Given the description of an element on the screen output the (x, y) to click on. 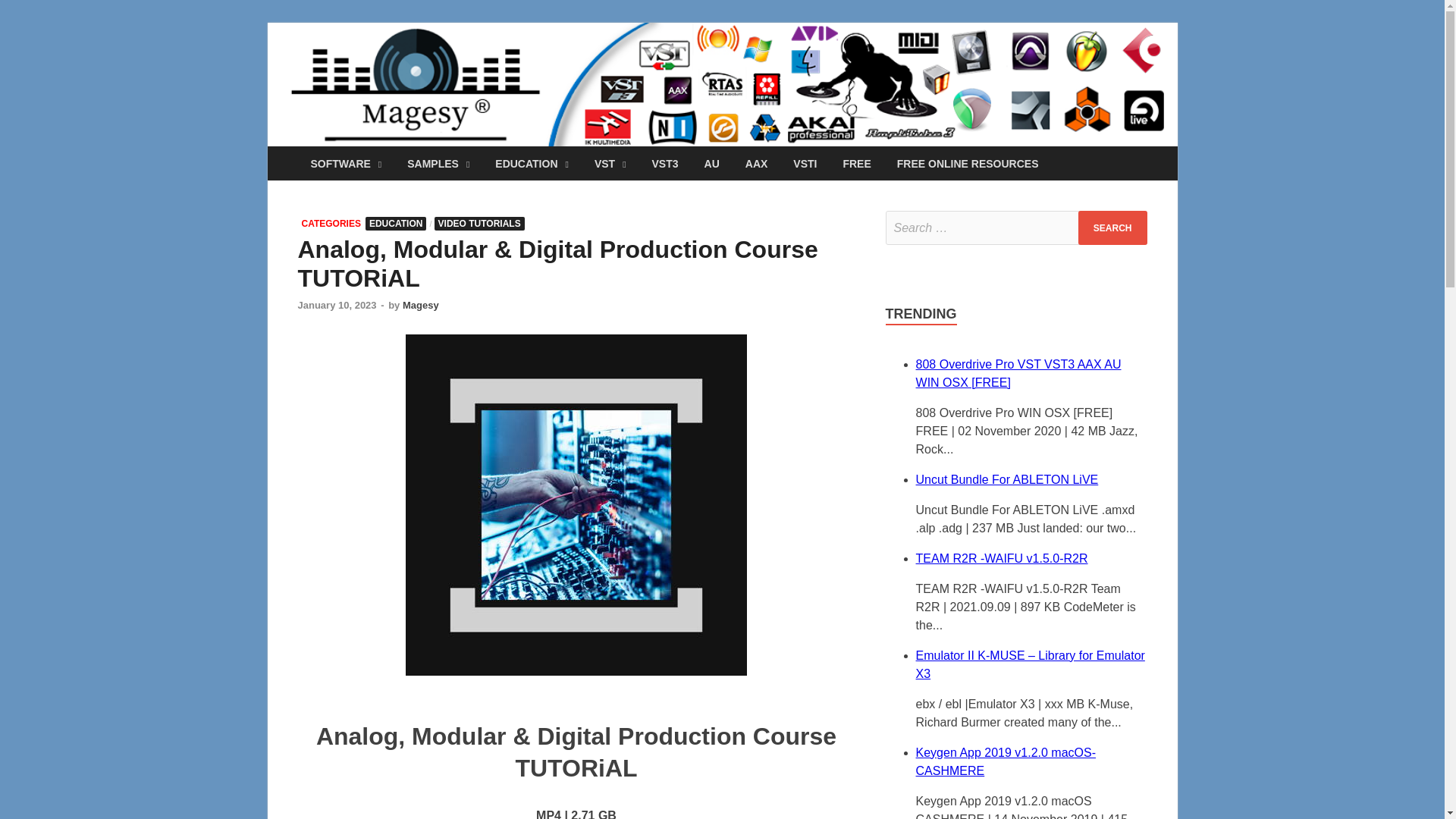
SAMPLES (437, 163)
AAX (756, 163)
EDUCATION (530, 163)
VST (609, 163)
FREE ONLINE RESOURCES (967, 163)
Search (1112, 227)
AU (711, 163)
SOFTWARE (345, 163)
Search (1112, 227)
VSTI (804, 163)
FREE (856, 163)
VST3 (665, 163)
